Given the description of an element on the screen output the (x, y) to click on. 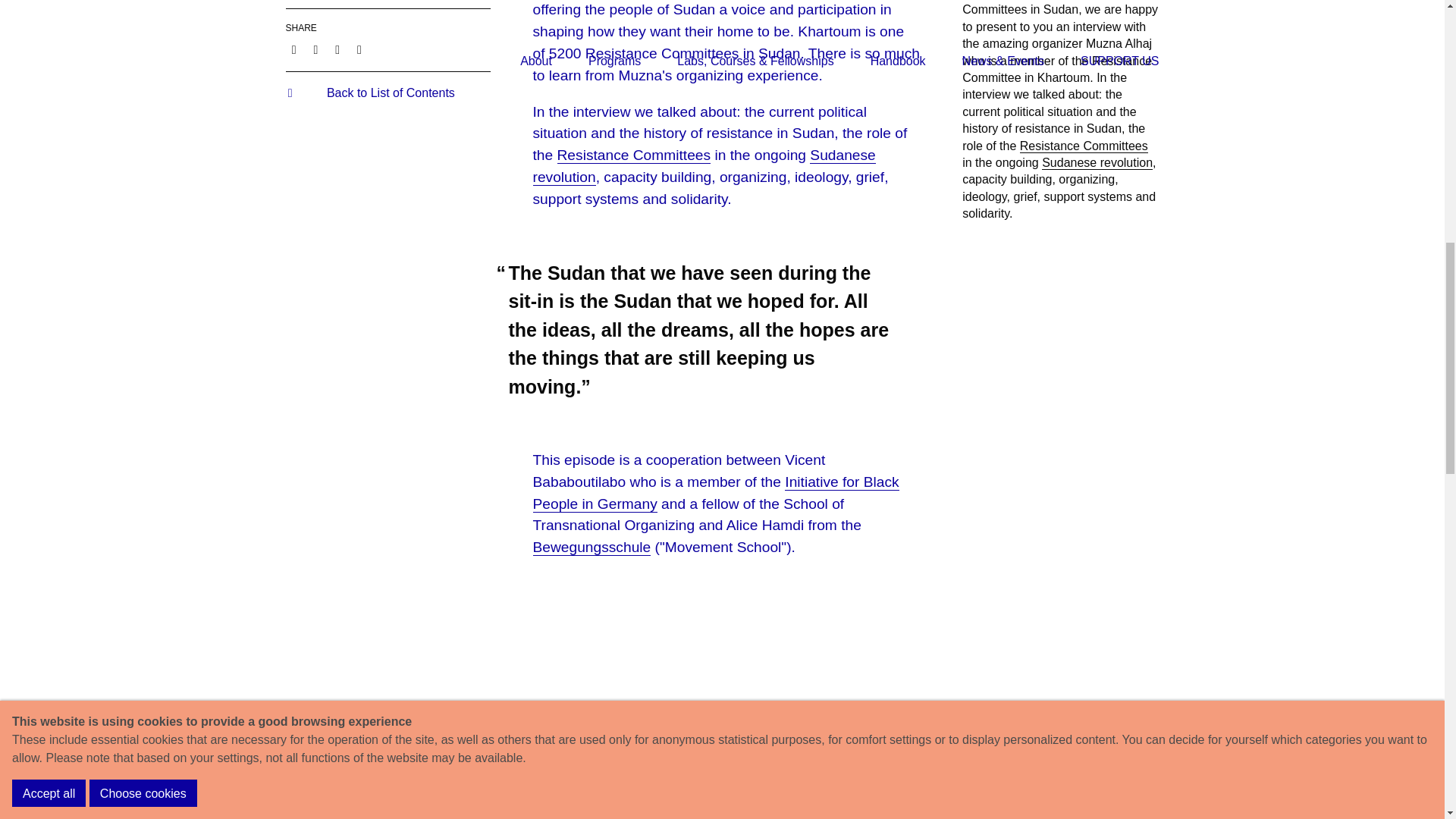
Copy Link (337, 49)
Share on Facebook (293, 49)
Print (359, 49)
Sudanese revolution (1097, 162)
Share on Twitter (315, 49)
Back to List of Contents (369, 92)
Sudanese revolution (703, 166)
Resistance Committees (1084, 146)
Initiative for Black People in Germany (715, 493)
Bewegungsschule (591, 547)
